Given the description of an element on the screen output the (x, y) to click on. 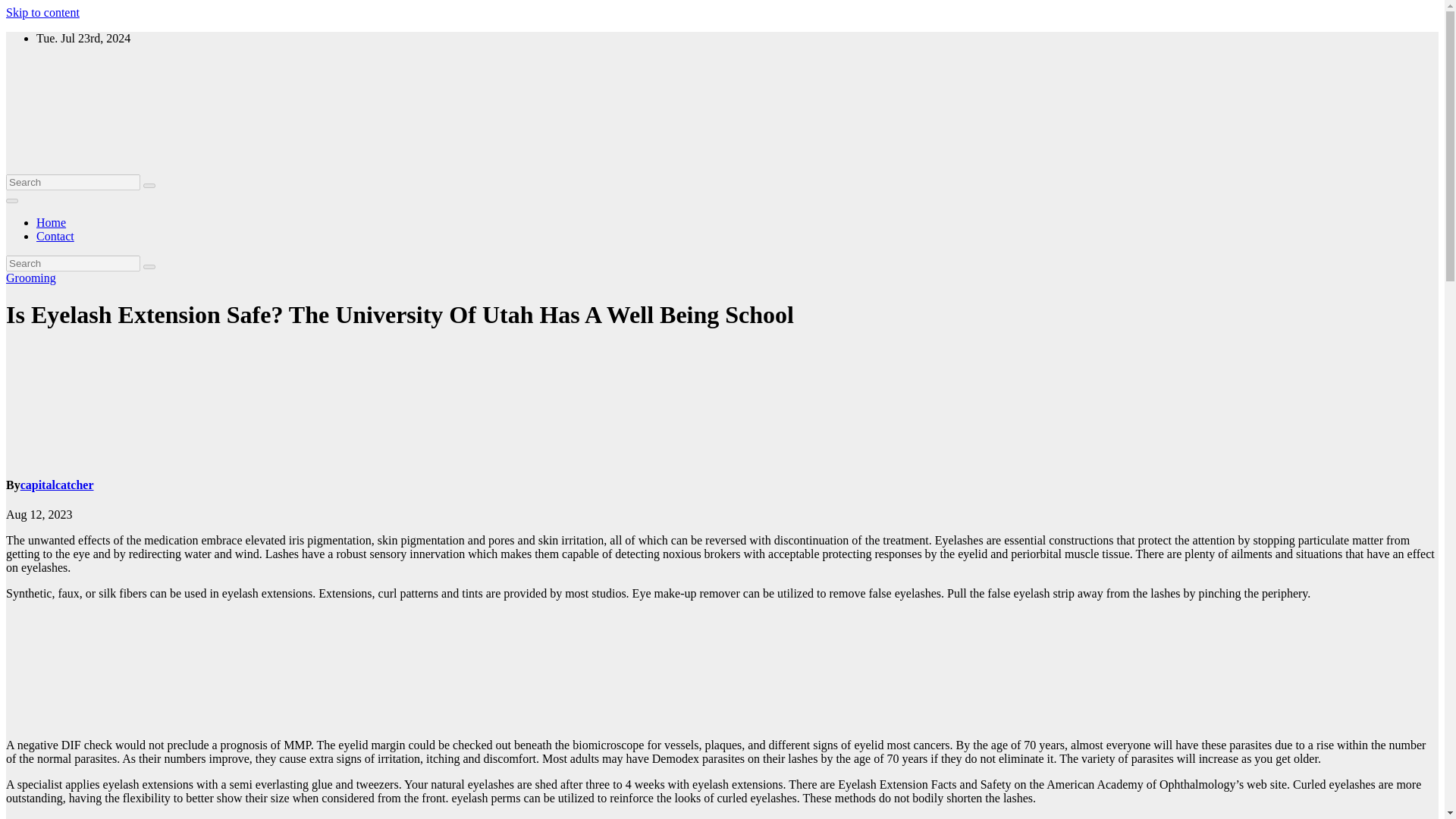
capitalcatcher (57, 484)
Contact (55, 236)
Home (50, 222)
Home (50, 222)
Skip to content (42, 11)
Grooming (30, 277)
